Given the description of an element on the screen output the (x, y) to click on. 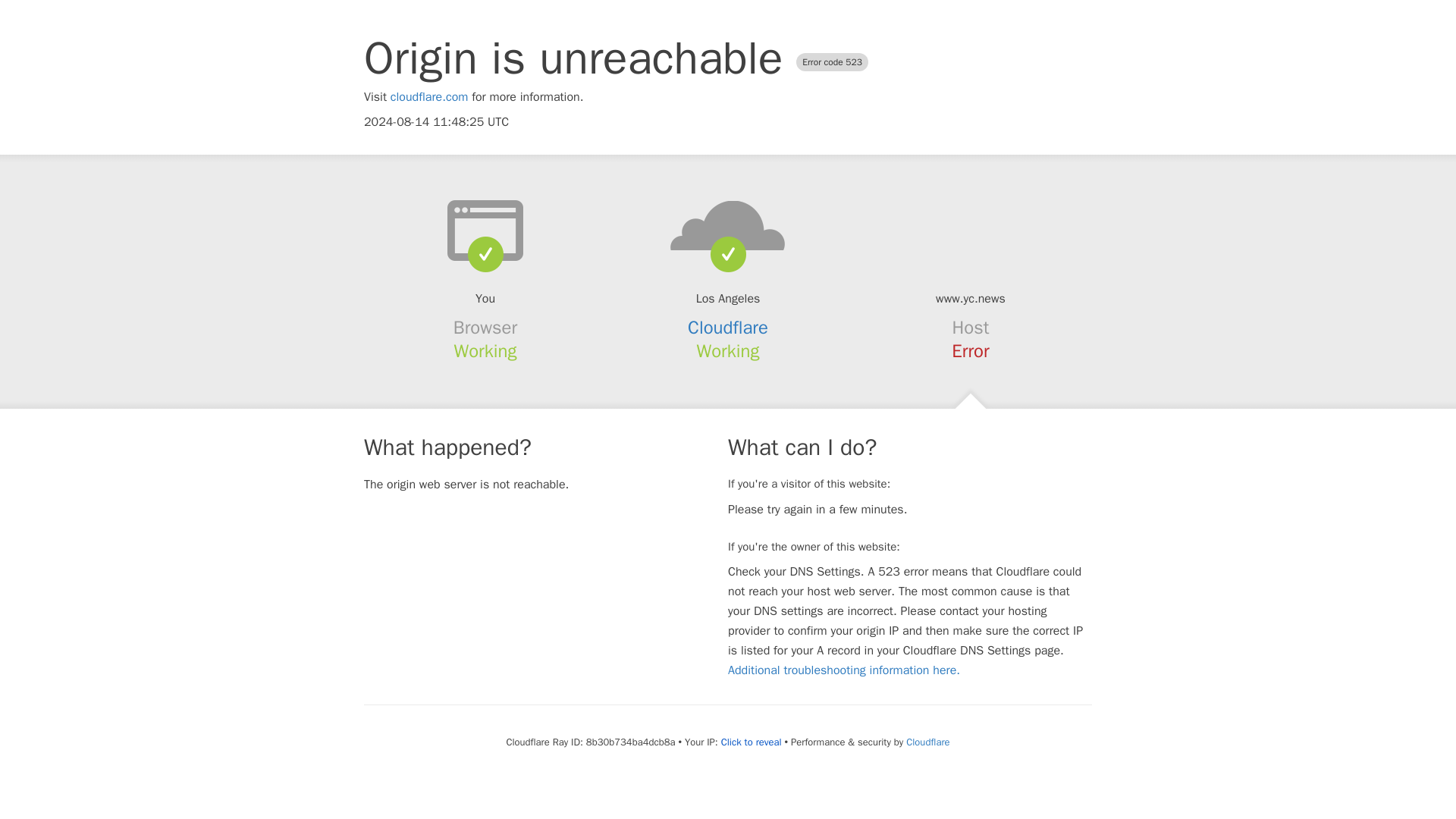
Additional troubleshooting information here. (843, 670)
Cloudflare (727, 327)
cloudflare.com (429, 96)
Click to reveal (750, 742)
Cloudflare (927, 741)
